Given the description of an element on the screen output the (x, y) to click on. 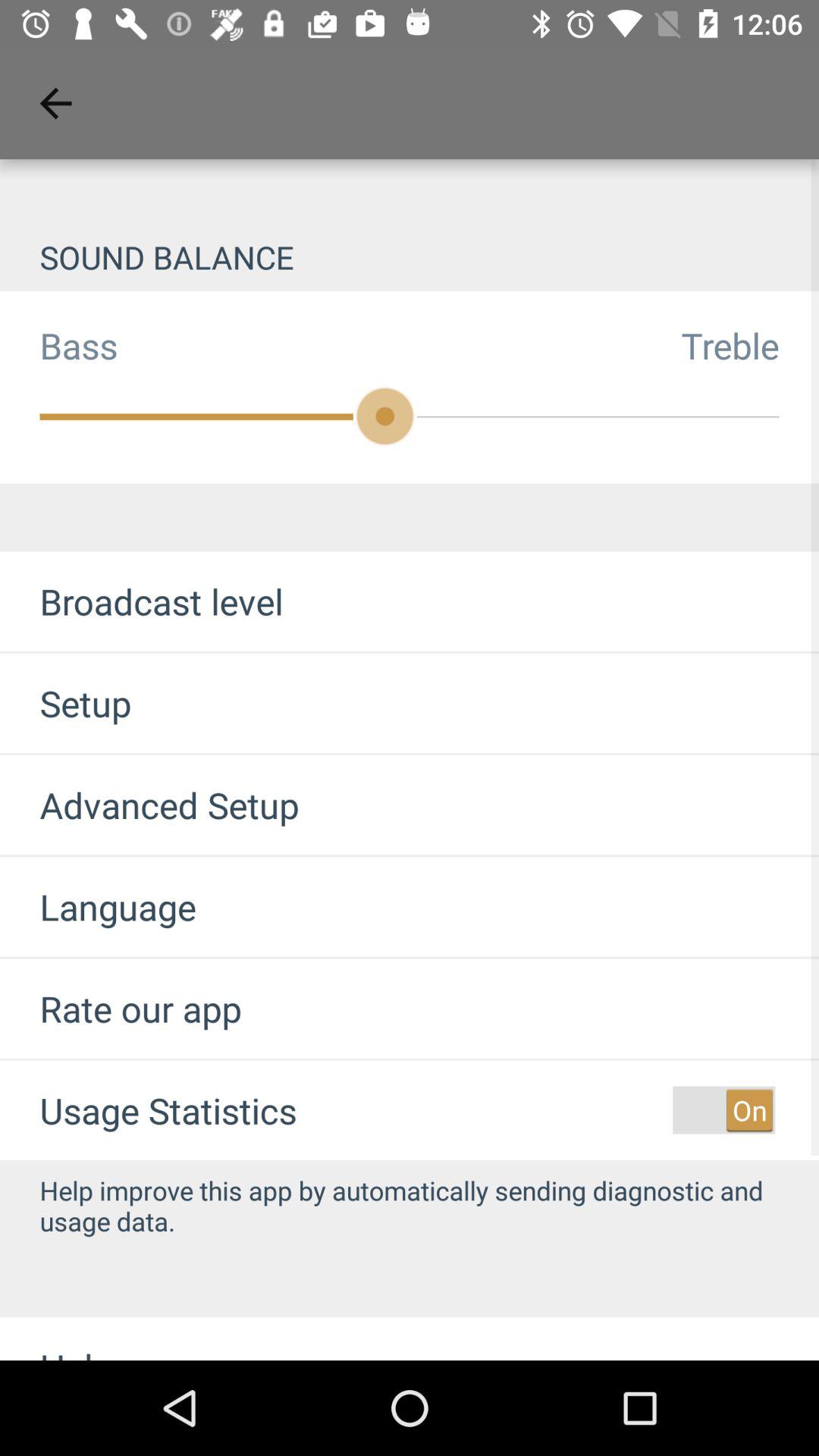
press the icon below sound balance item (750, 345)
